Given the description of an element on the screen output the (x, y) to click on. 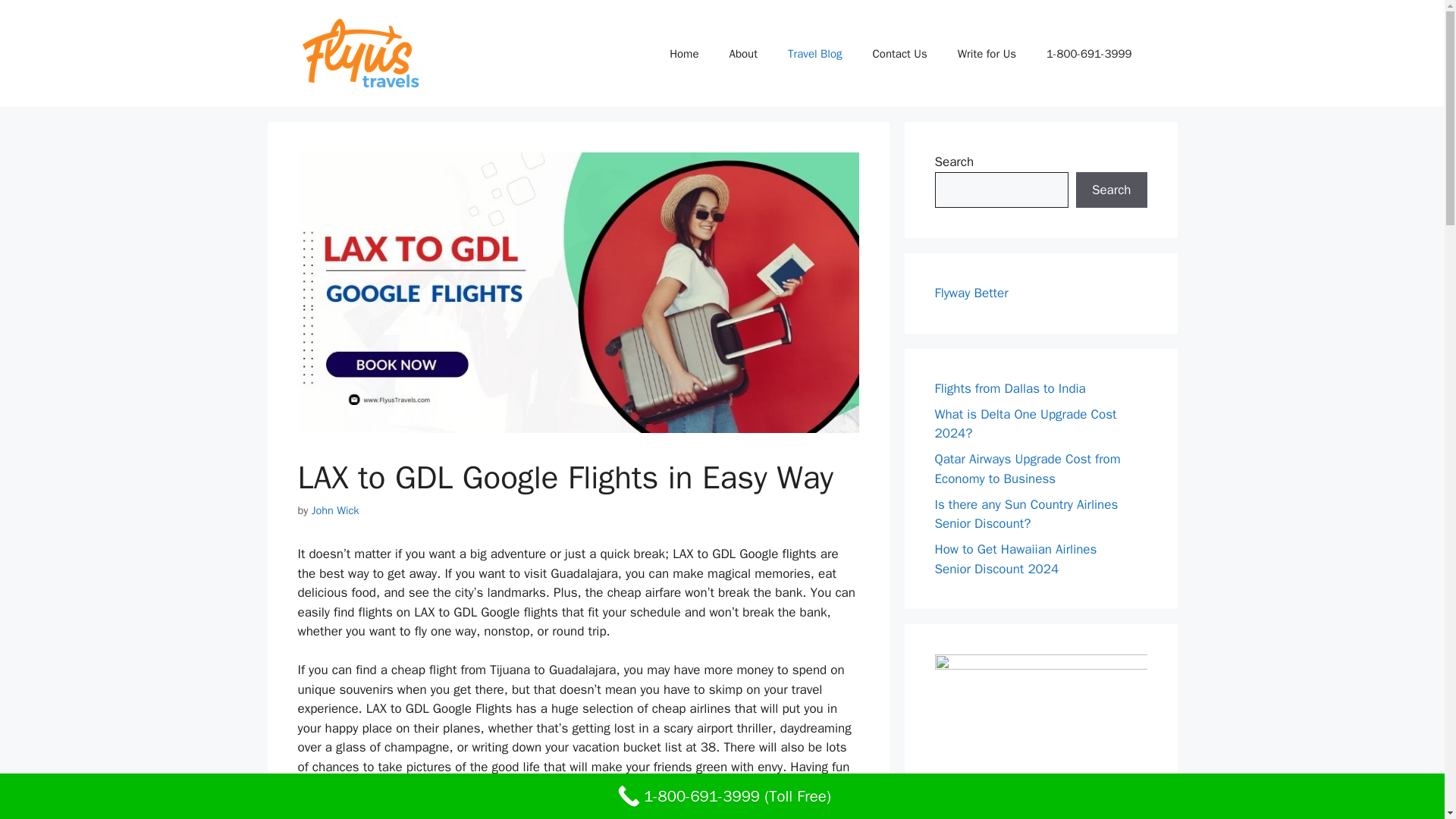
John Wick (335, 509)
Home (683, 53)
Qatar Airways Upgrade Cost from Economy to Business (1026, 468)
Flights from Dallas to India (1009, 388)
View all posts by John Wick (335, 509)
1-800-691-3999 (1088, 53)
Travel Blog (815, 53)
Flyway Better (970, 293)
How to Get Hawaiian Airlines Senior Discount 2024 (1015, 559)
